Given the description of an element on the screen output the (x, y) to click on. 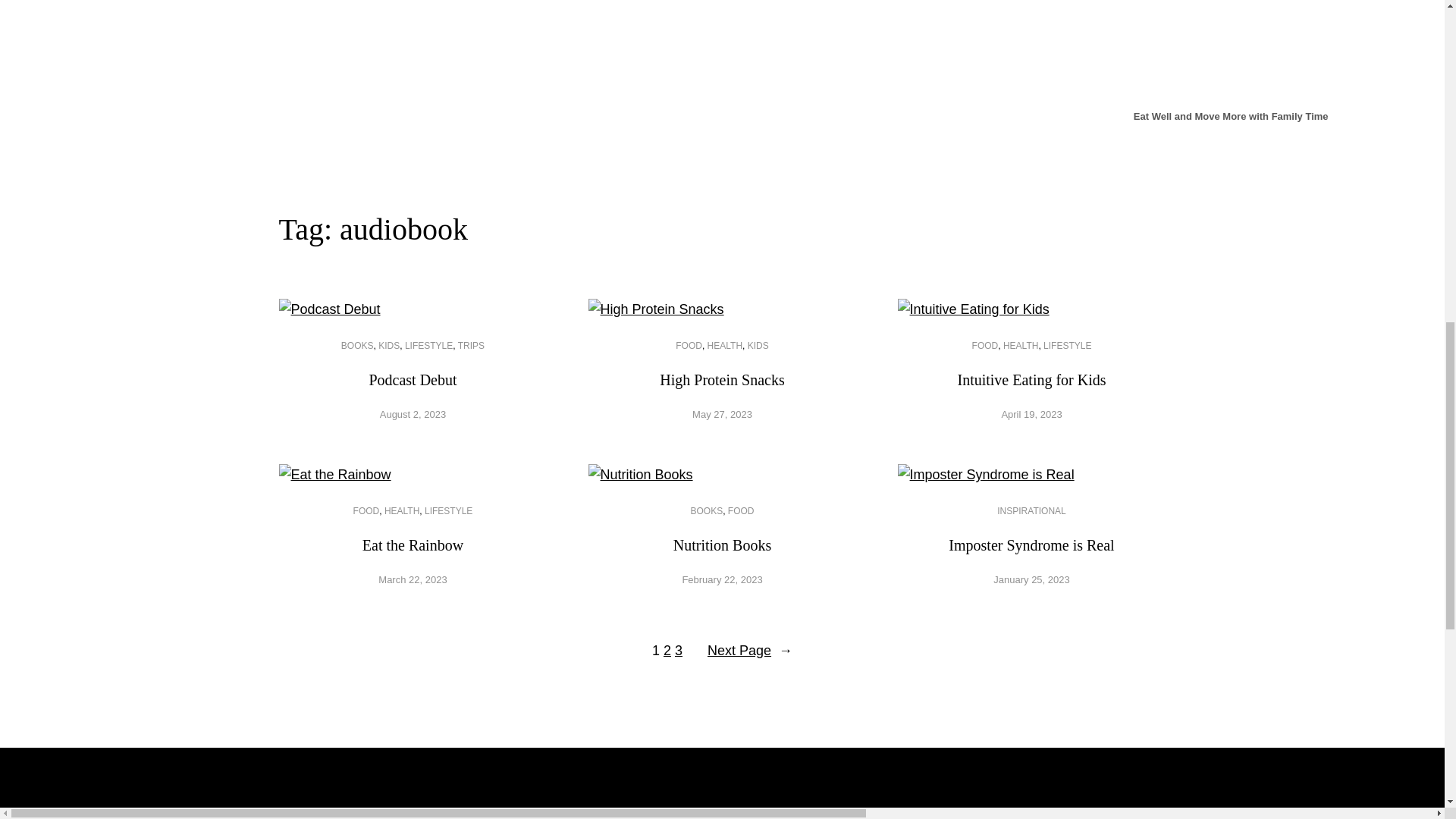
FOOD (688, 345)
HEALTH (724, 345)
HEALTH (401, 511)
LIFESTYLE (448, 511)
High Protein Snacks (721, 380)
Intuitive Eating for Kids (1030, 380)
HEALTH (1020, 345)
Podcast Debut (412, 380)
KIDS (388, 345)
LIFESTYLE (1066, 345)
KIDS (758, 345)
FOOD (366, 511)
FOOD (985, 345)
LIFESTYLE (428, 345)
BOOKS (357, 345)
